Given the description of an element on the screen output the (x, y) to click on. 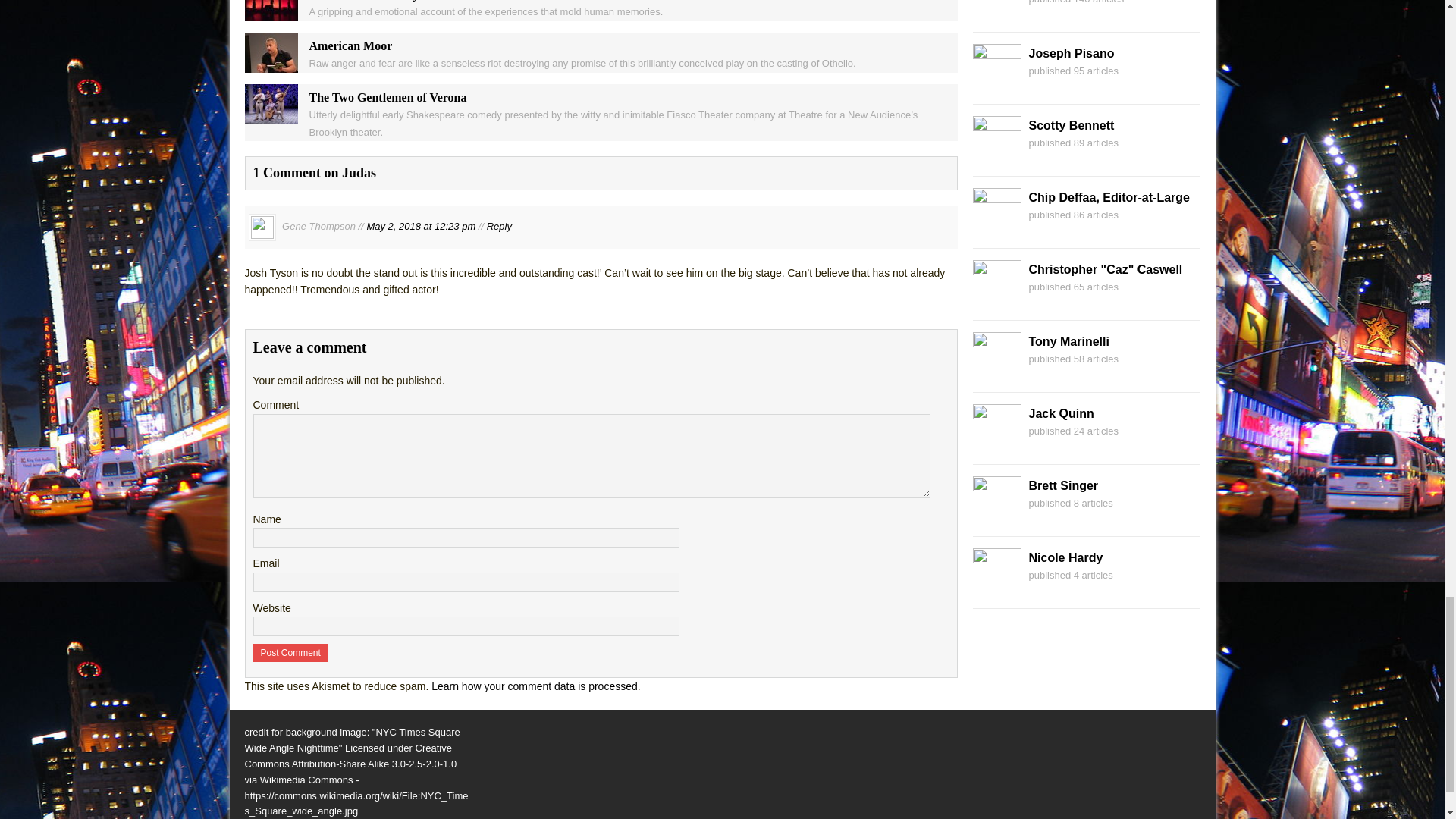
American Moor (270, 64)
A Persistent Memory (270, 12)
Post Comment (291, 652)
